Given the description of an element on the screen output the (x, y) to click on. 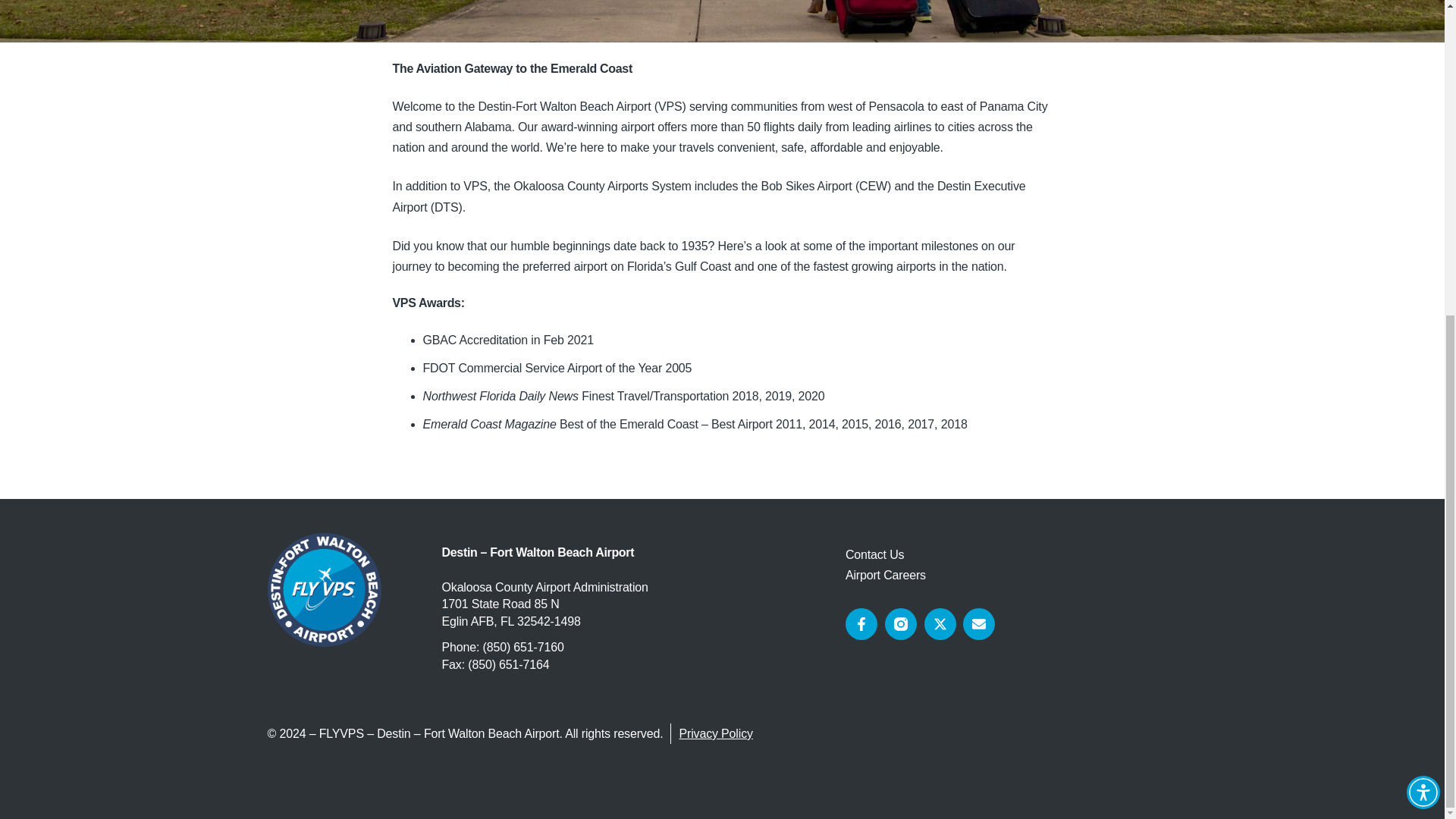
Accessibility Menu (1422, 286)
